Given the description of an element on the screen output the (x, y) to click on. 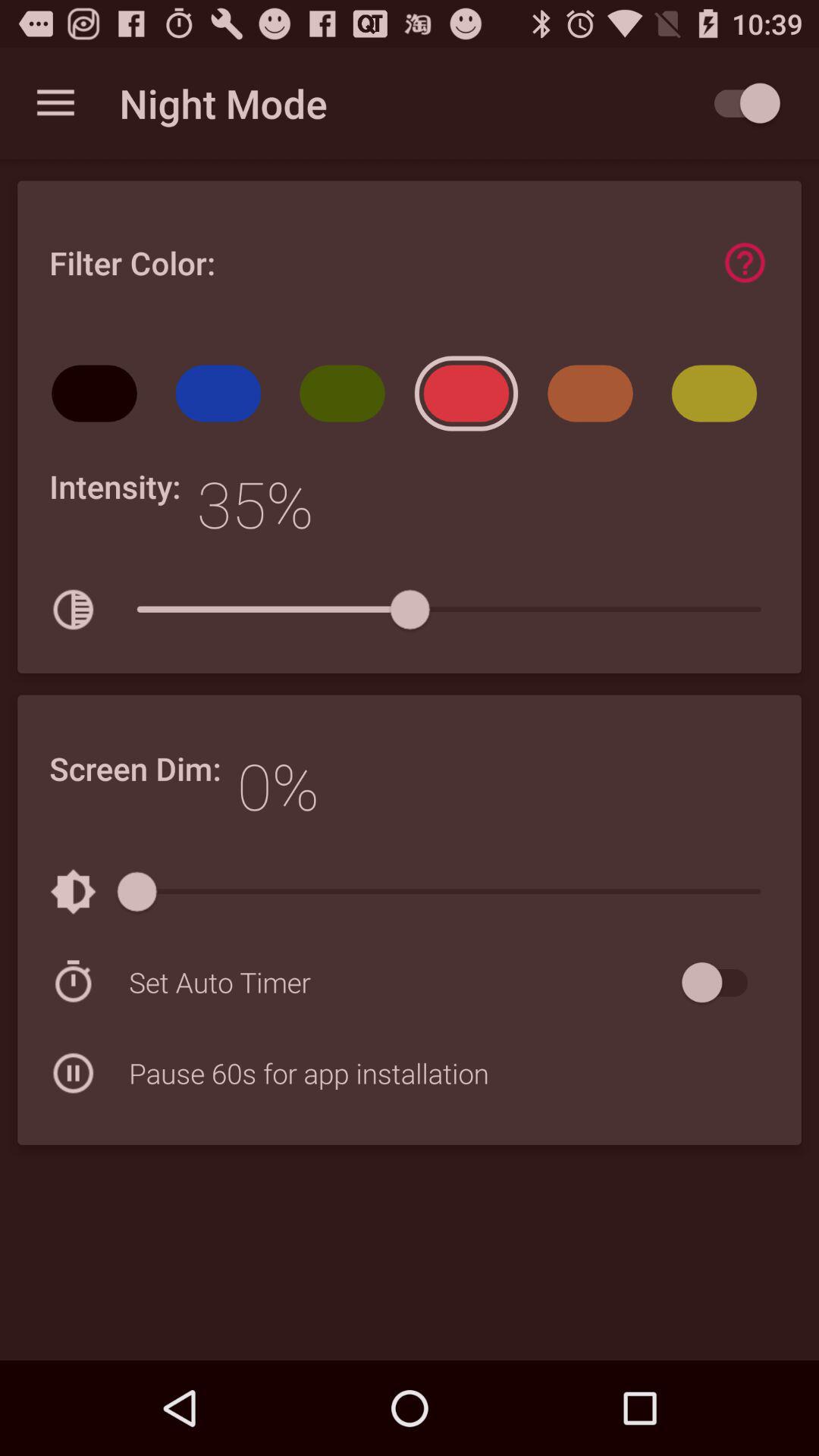
turn night mode off/on (739, 103)
